Given the description of an element on the screen output the (x, y) to click on. 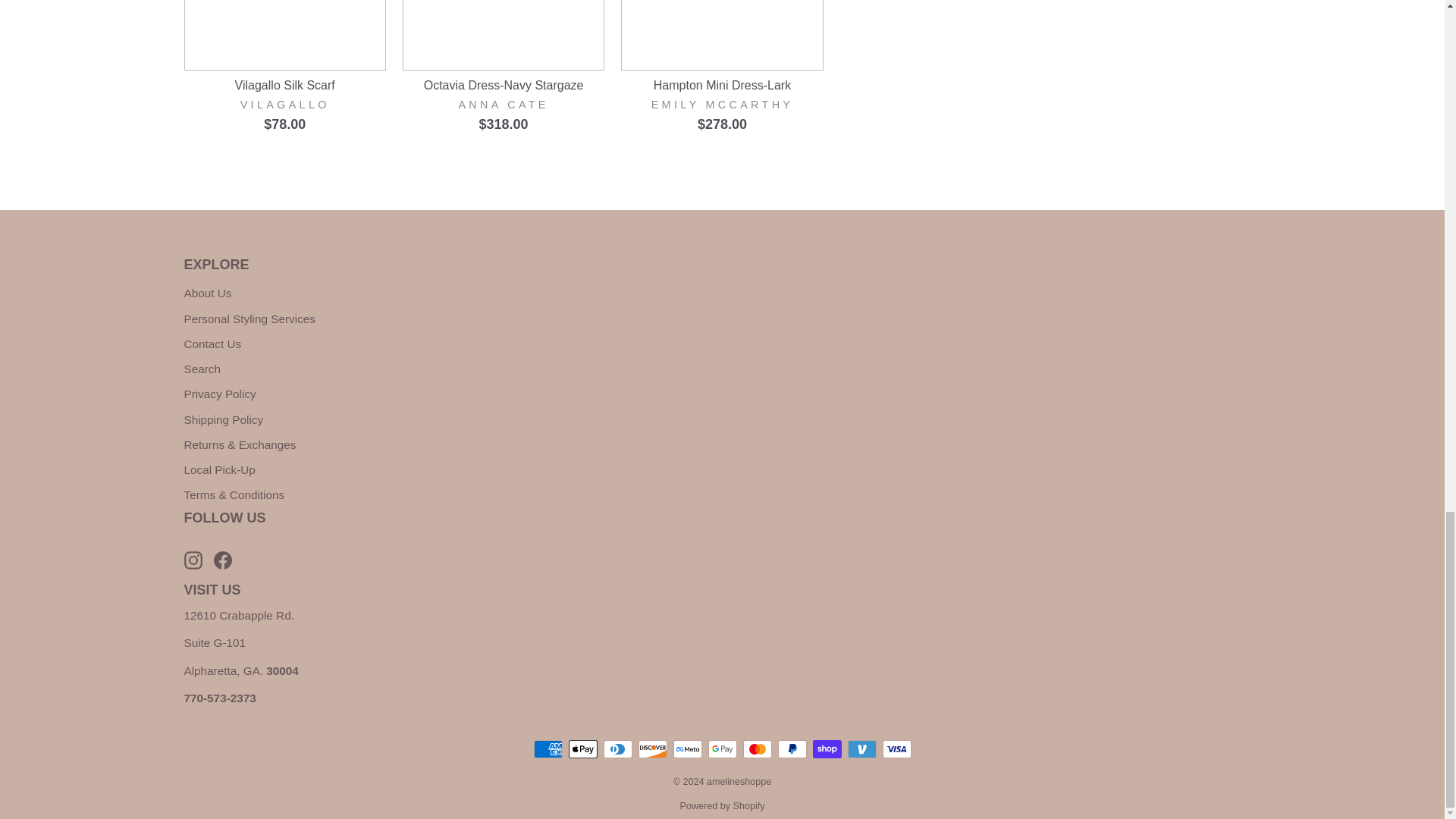
amelineshoppe on Facebook (222, 560)
amelineshoppe on Instagram (192, 560)
Meta Pay (686, 749)
PayPal (791, 749)
American Express (548, 749)
Google Pay (721, 749)
Diners Club (617, 749)
Discover (652, 749)
Apple Pay (582, 749)
Mastercard (756, 749)
